Given the description of an element on the screen output the (x, y) to click on. 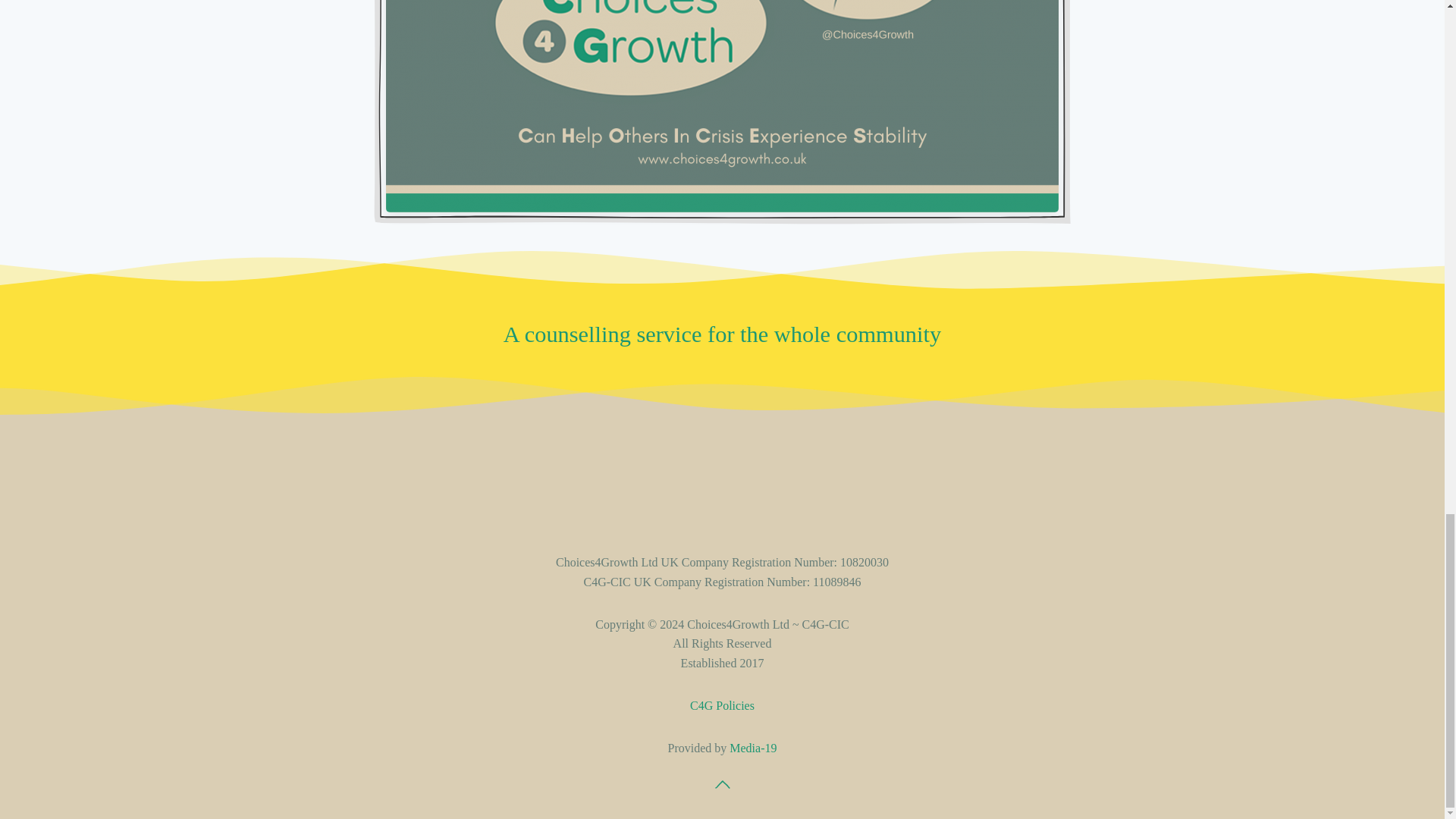
Visit Media-19... (752, 748)
COVID-19... (722, 705)
Media-19 (752, 748)
Return to top... (722, 784)
C4G Policies (722, 705)
